Given the description of an element on the screen output the (x, y) to click on. 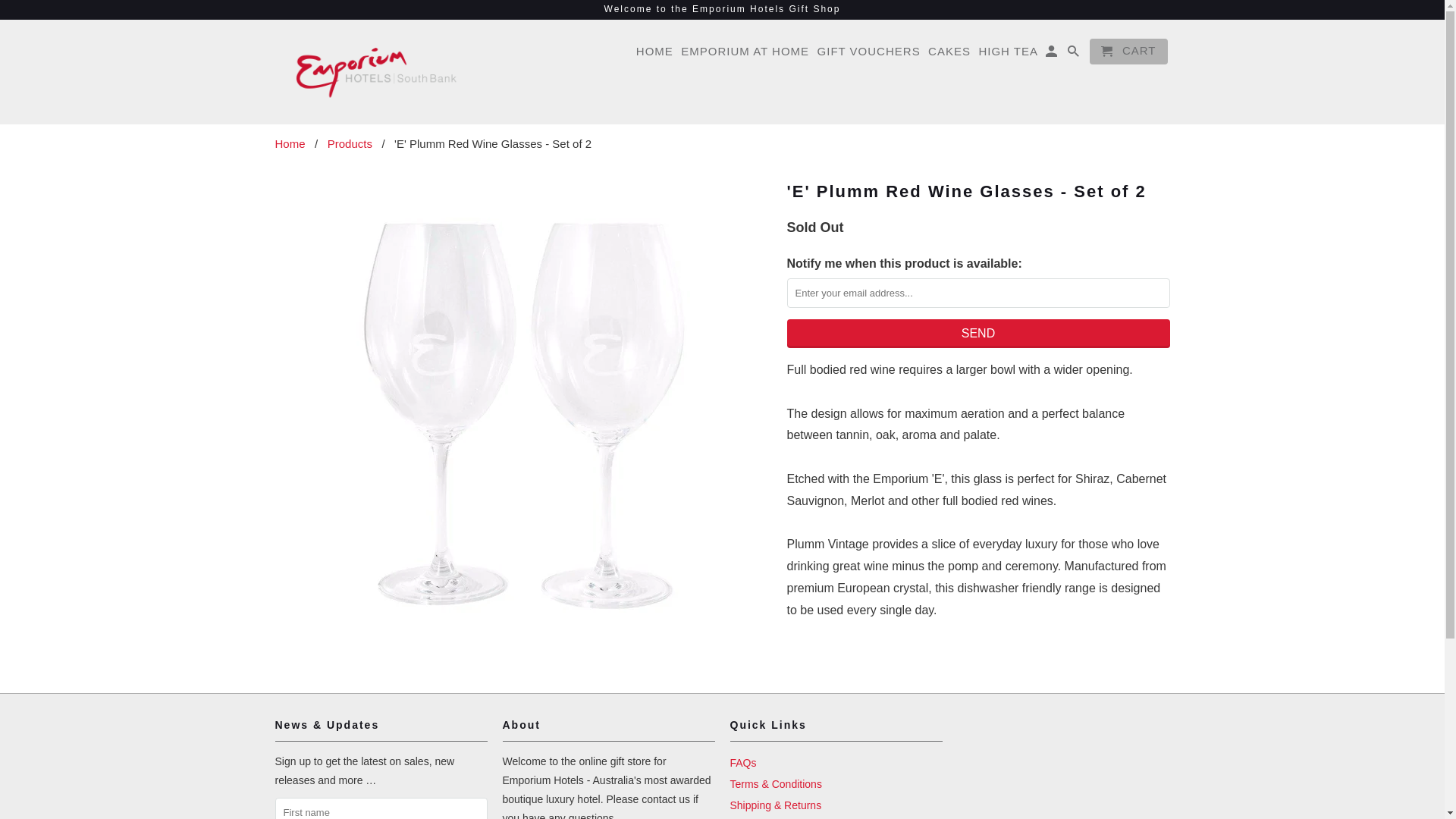
HOME Element type: text (654, 54)
Shipping & Returns Element type: text (775, 805)
HIGH TEA Element type: text (1008, 54)
EMPORIUM AT HOME Element type: text (744, 54)
Terms & Conditions Element type: text (775, 784)
CAKES Element type: text (949, 54)
CART Element type: text (1128, 51)
Home Element type: text (289, 143)
FAQs Element type: text (742, 762)
'E' Plumm Red Wine Glasses - Set of 2 Element type: hover (522, 402)
Send Element type: text (978, 333)
Search Element type: hover (1074, 54)
Emporium Hotels Gift Shop Element type: hover (372, 71)
GIFT VOUCHERS Element type: text (868, 54)
Products Element type: text (349, 143)
My Account  Element type: hover (1052, 54)
